Given the description of an element on the screen output the (x, y) to click on. 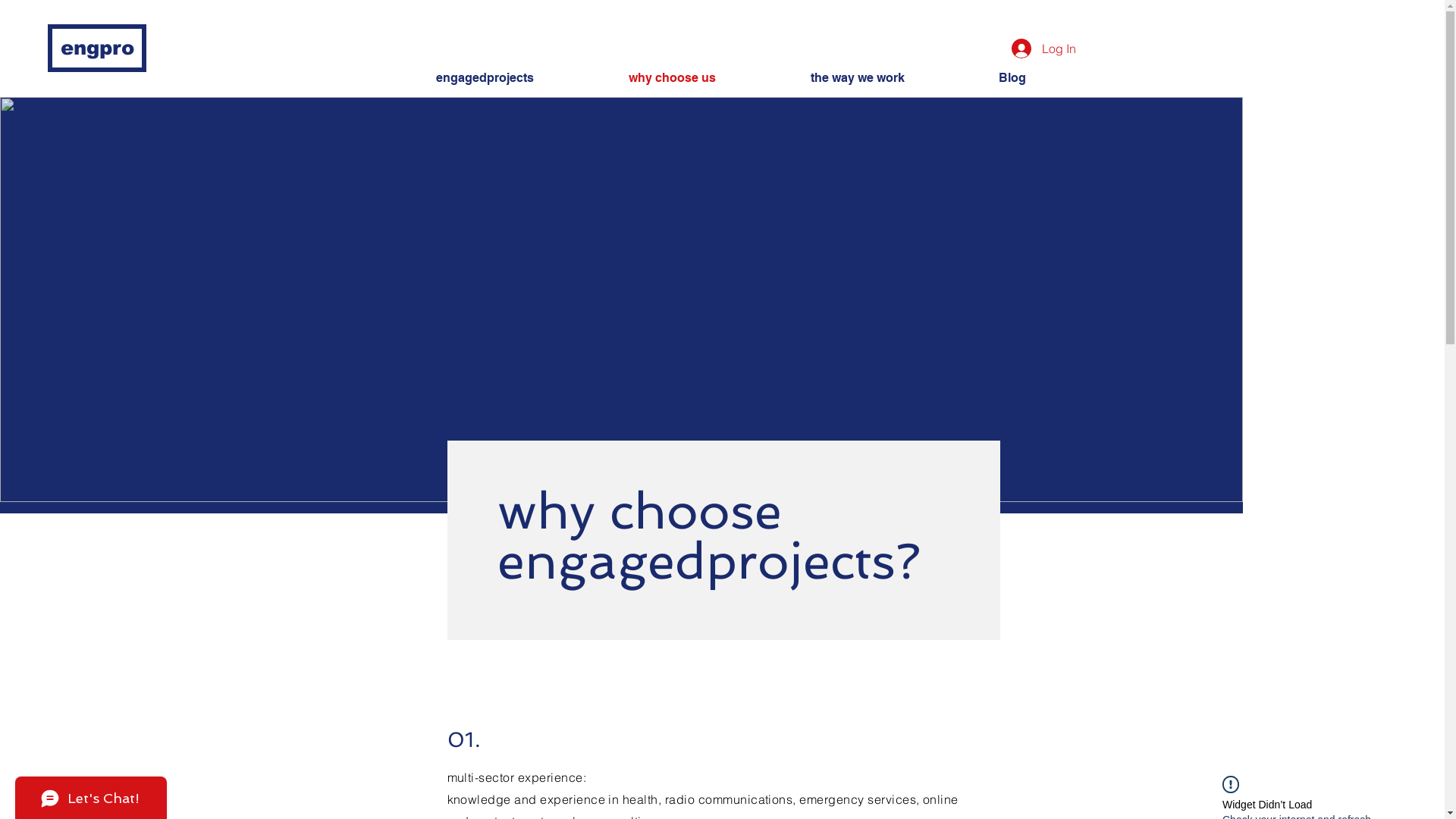
Log In Element type: text (1043, 48)
why choose us Element type: text (708, 78)
engpro Element type: text (96, 48)
engagedprojects Element type: text (520, 78)
the way we work Element type: text (893, 78)
Blog Element type: text (1047, 78)
